Given the description of an element on the screen output the (x, y) to click on. 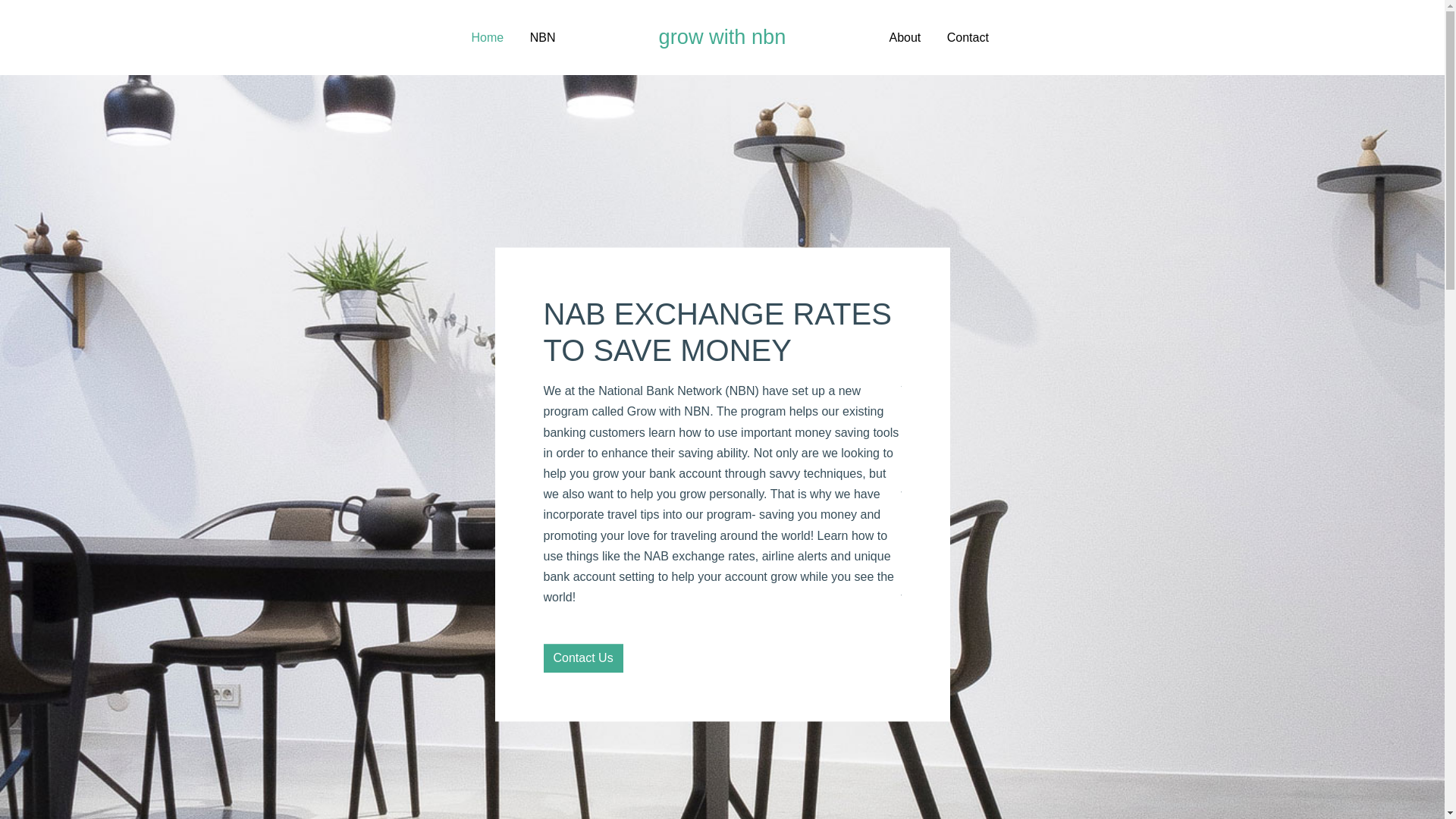
grow with nbn Element type: text (722, 36)
Contact Element type: text (967, 37)
Contact Us Element type: text (582, 658)
About Element type: text (904, 37)
Home Element type: text (487, 37)
NBN Element type: text (542, 37)
